Given the description of an element on the screen output the (x, y) to click on. 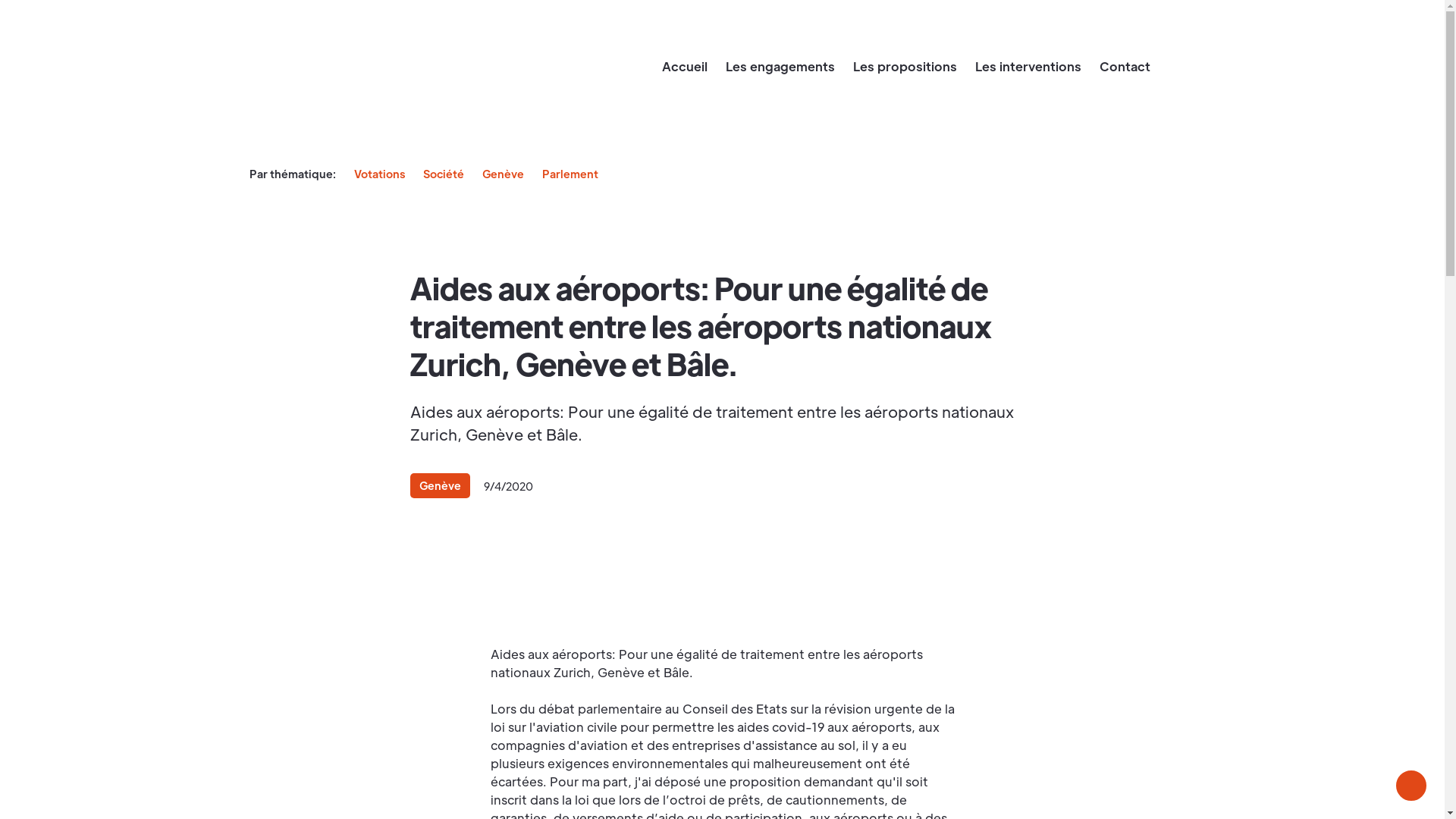
Accueil Element type: text (683, 66)
Parlement Element type: text (569, 173)
Les interventions Element type: text (1028, 66)
Votations Element type: text (378, 173)
Les engagements Element type: text (779, 66)
Contact Element type: text (1124, 66)
Les propositions Element type: text (904, 66)
